Given the description of an element on the screen output the (x, y) to click on. 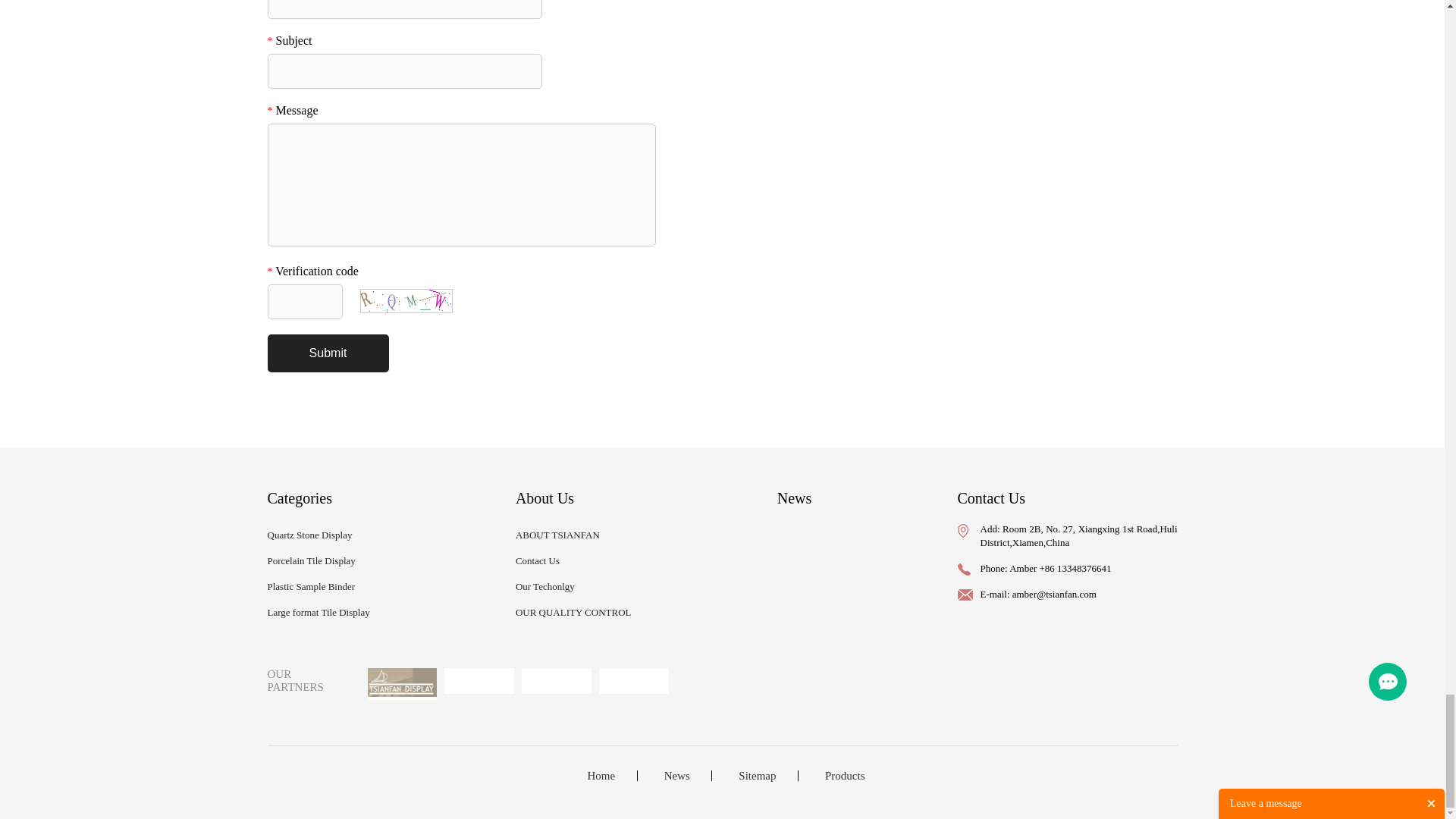
Submit (327, 353)
03 (556, 680)
01 (401, 684)
04 (633, 680)
02 (478, 680)
